Given the description of an element on the screen output the (x, y) to click on. 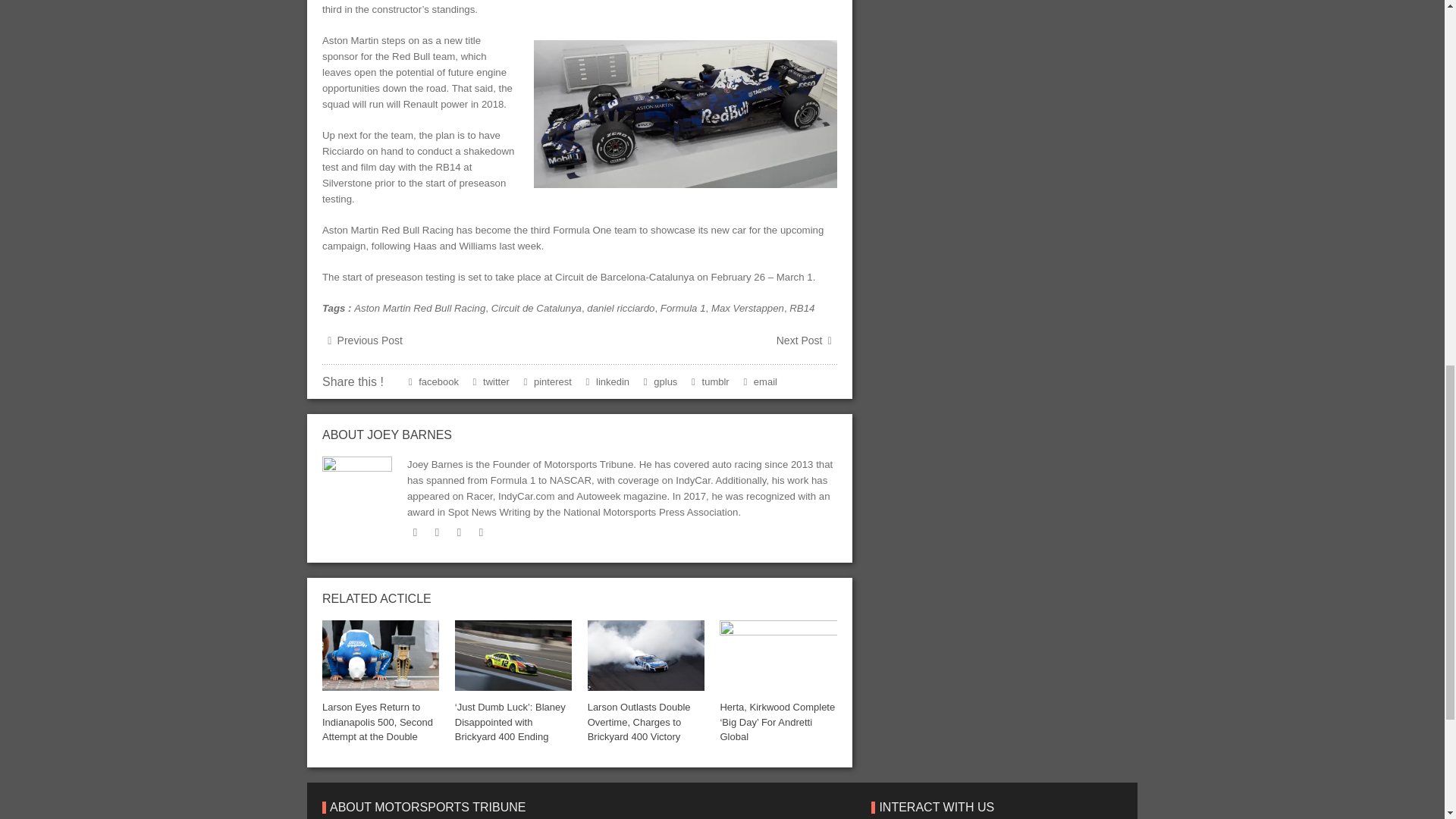
linkedin (459, 531)
Posts by Joey Barnes (408, 434)
facebook (437, 531)
twitter (415, 531)
email (481, 531)
